Given the description of an element on the screen output the (x, y) to click on. 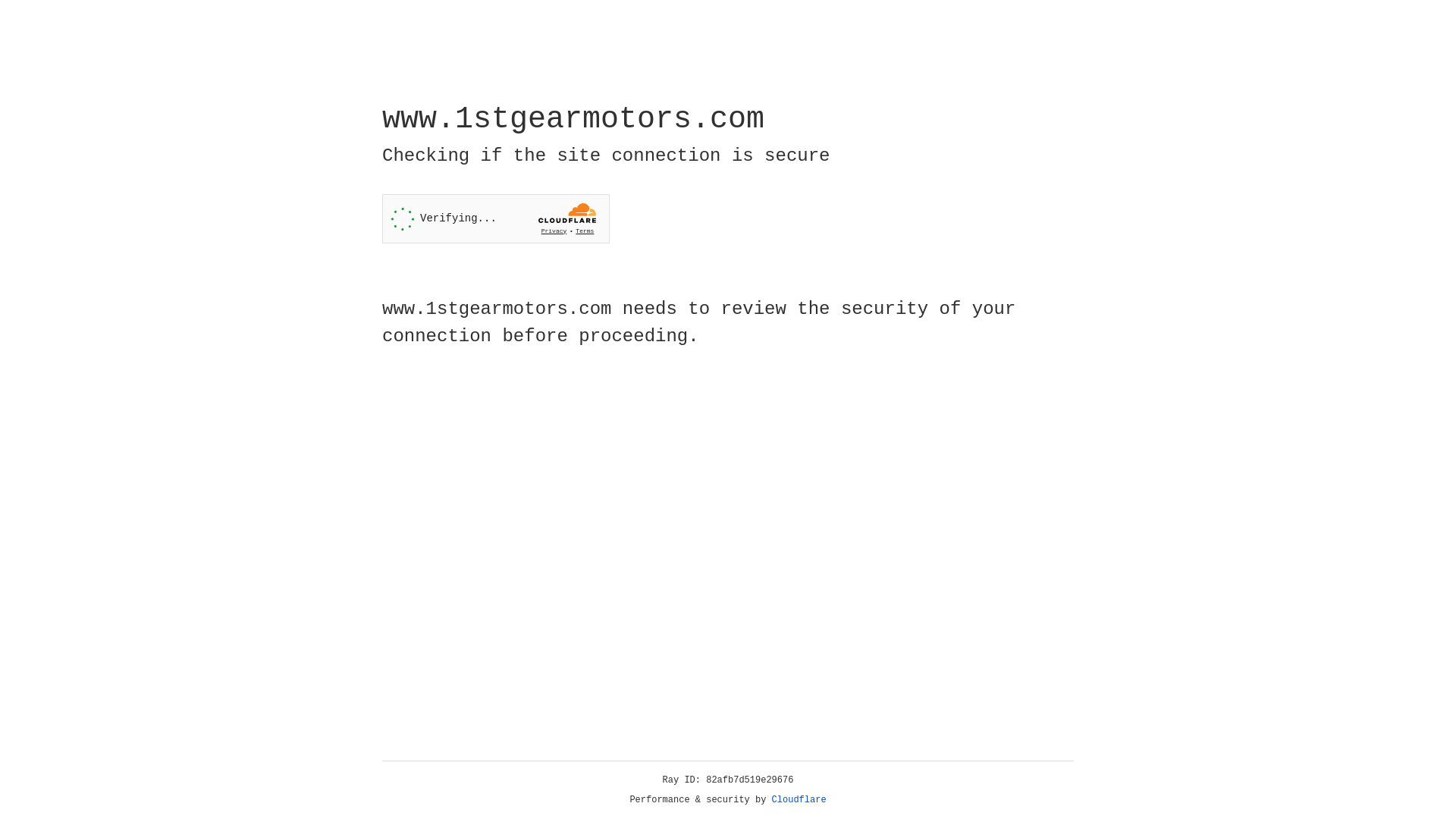
Cloudflare Element type: text (798, 799)
Widget containing a Cloudflare security challenge Element type: hover (495, 218)
